Given the description of an element on the screen output the (x, y) to click on. 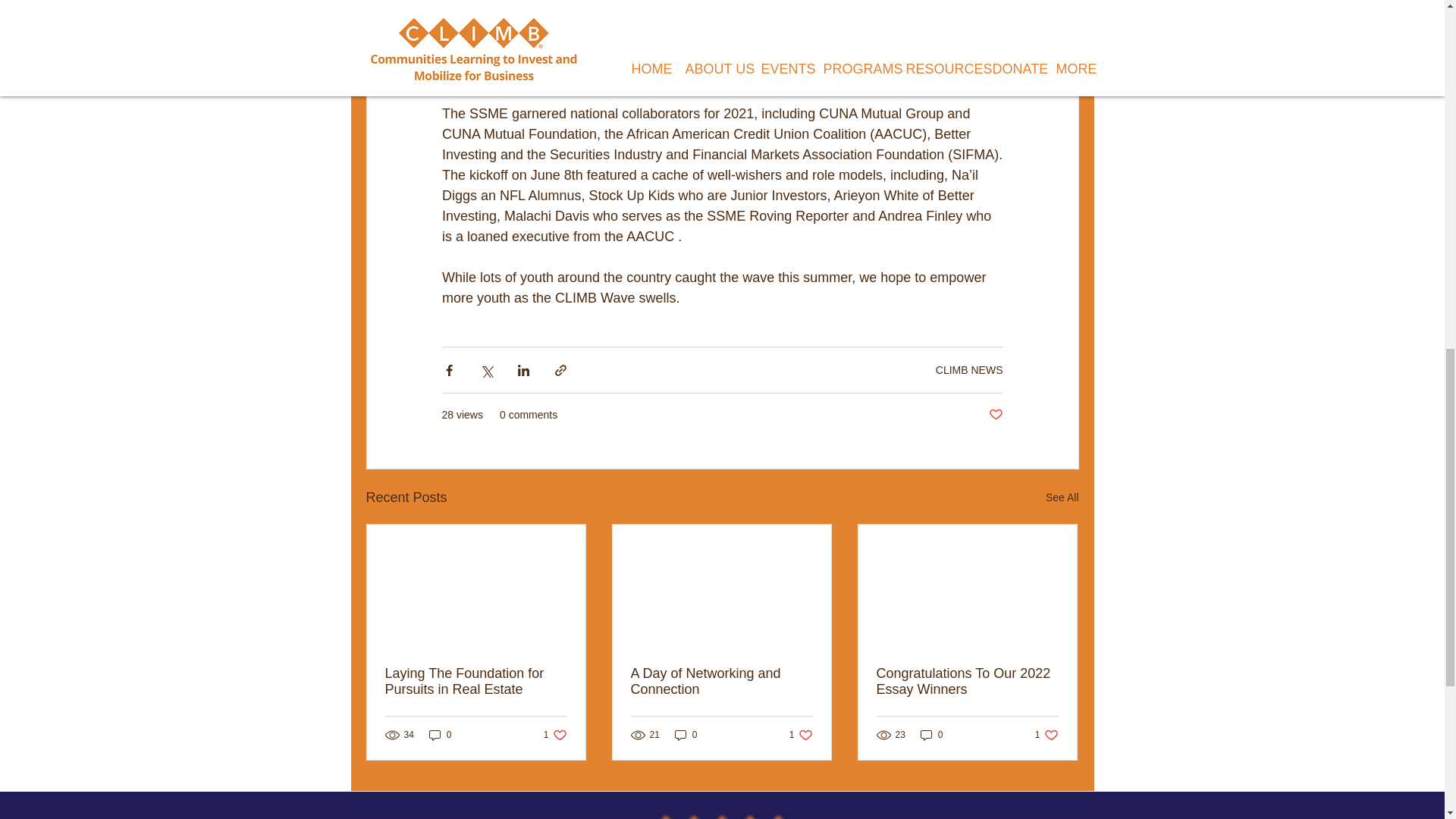
0 (555, 735)
Laying The Foundation for Pursuits in Real Estate (1046, 735)
Post not marked as liked (931, 735)
A Day of Networking and Connection (476, 681)
0 (995, 415)
0 (721, 681)
Congratulations To Our 2022 Essay Winners (685, 735)
See All (800, 735)
CLIMB NEWS (440, 735)
